Given the description of an element on the screen output the (x, y) to click on. 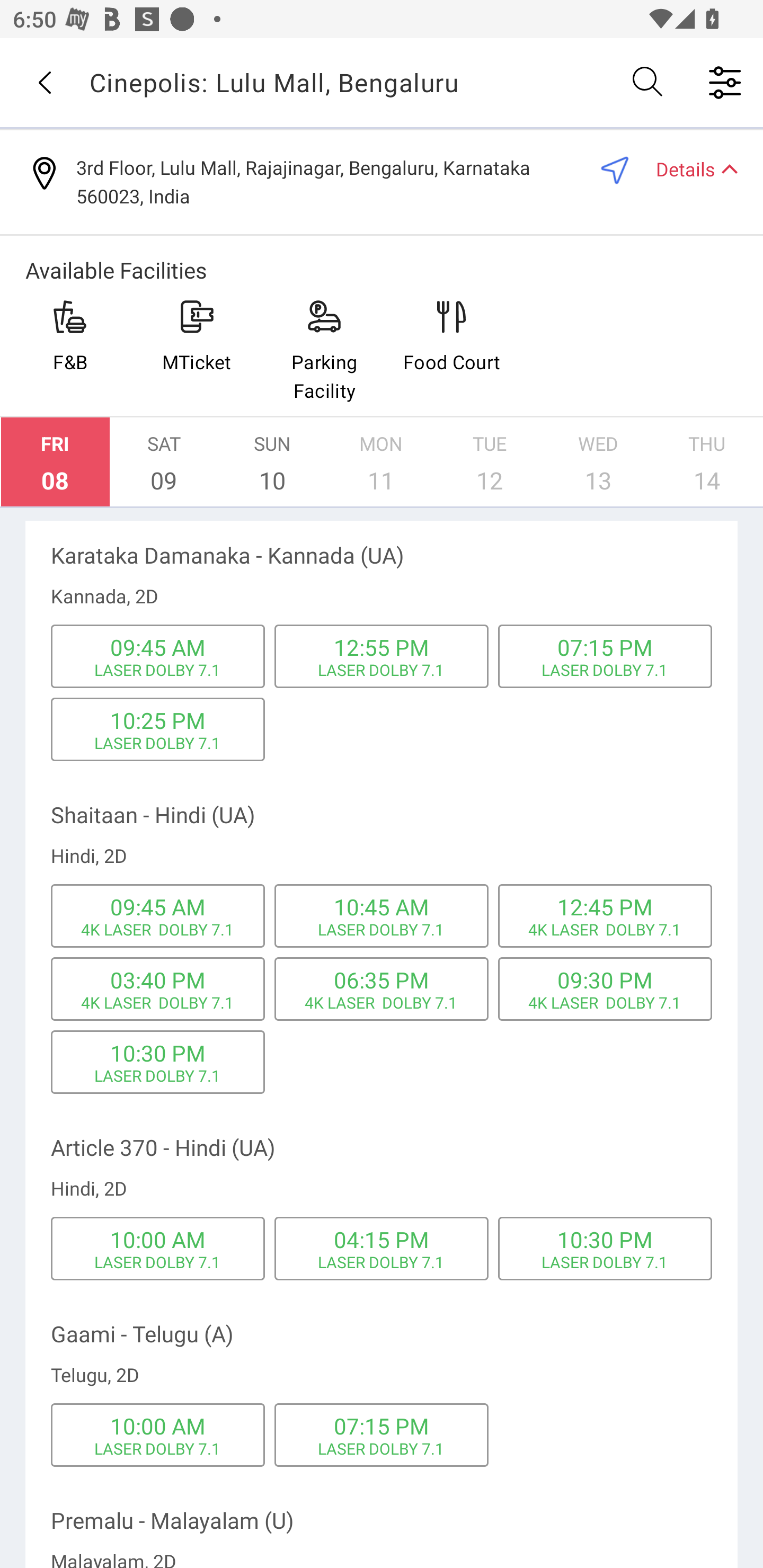
Navigate up (44, 82)
Search (648, 81)
Filter (724, 81)
Details (688, 168)
SAT 09 MAR (163, 461)
SUN 10 MAR (272, 461)
MON 11 MAR (380, 461)
TUE 12 MAR (489, 461)
WED 13 MAR (598, 461)
THU 14 MAR (707, 461)
09:45 AM (157, 646)
12:55 PM (381, 646)
07:15 PM (605, 646)
LASER DOLBY 7.1 (157, 669)
LASER DOLBY 7.1 (381, 669)
LASER DOLBY 7.1 (604, 669)
10:25 PM (157, 720)
LASER DOLBY 7.1 (157, 743)
09:45 AM (157, 906)
10:45 AM (381, 906)
12:45 PM (605, 906)
4K LASER  DOLBY 7.1 (157, 929)
LASER DOLBY 7.1 (381, 929)
4K LASER  DOLBY 7.1 (604, 929)
03:40 PM (157, 979)
06:35 PM (381, 979)
09:30 PM (605, 979)
4K LASER  DOLBY 7.1 (157, 1001)
4K LASER  DOLBY 7.1 (380, 1001)
4K LASER  DOLBY 7.1 (604, 1001)
10:30 PM (157, 1052)
LASER DOLBY 7.1 (157, 1075)
10:00 AM (157, 1239)
04:15 PM (381, 1239)
10:30 PM (605, 1239)
LASER DOLBY 7.1 (157, 1262)
LASER DOLBY 7.1 (381, 1262)
LASER DOLBY 7.1 (604, 1262)
10:00 AM (157, 1425)
07:15 PM (381, 1425)
LASER DOLBY 7.1 (157, 1448)
LASER DOLBY 7.1 (381, 1448)
